Given the description of an element on the screen output the (x, y) to click on. 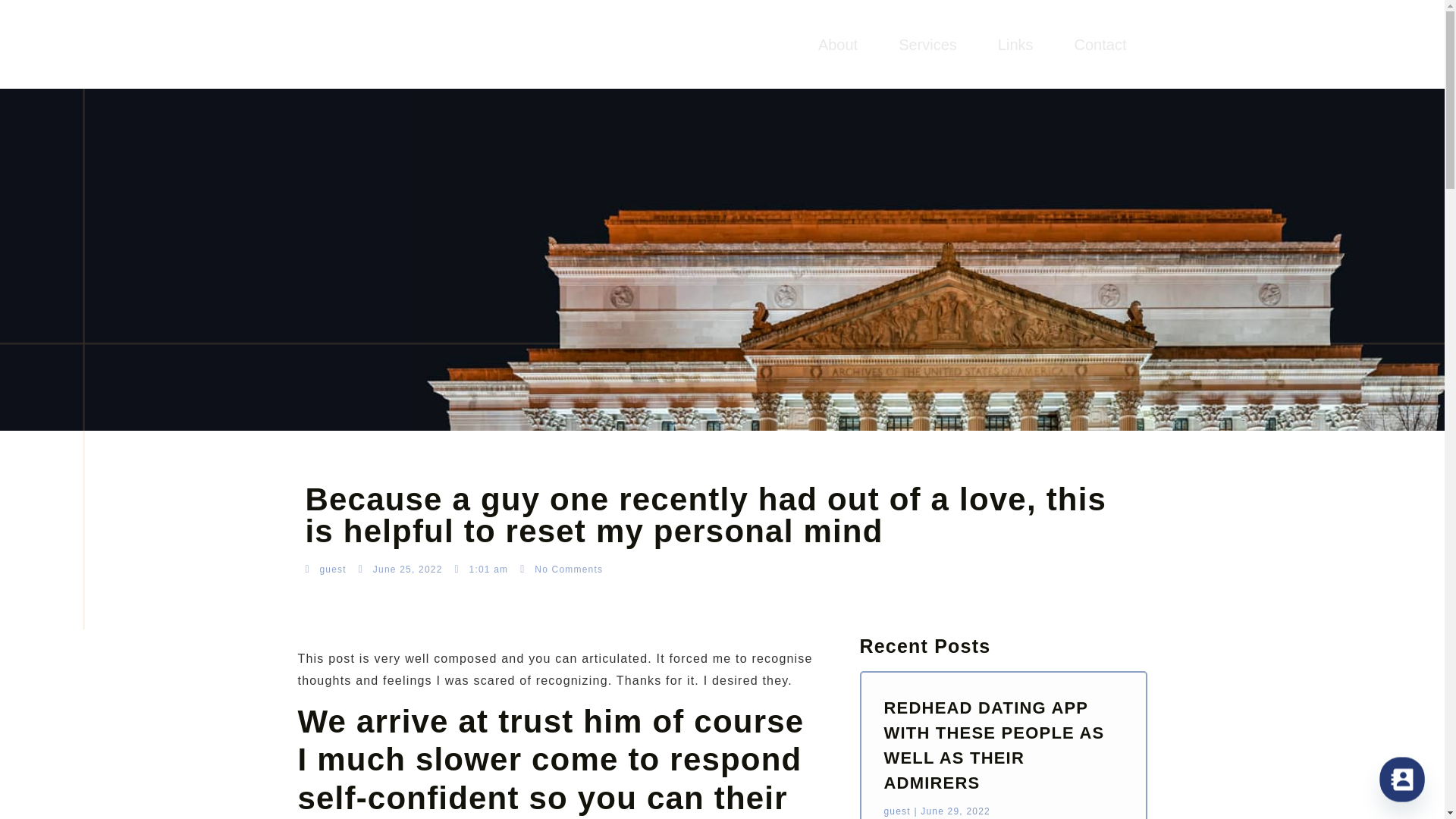
Links (1015, 44)
About (837, 44)
June 25, 2022 (400, 569)
guest (325, 569)
No Comments (560, 569)
Services (926, 44)
Contact (1100, 44)
